Given the description of an element on the screen output the (x, y) to click on. 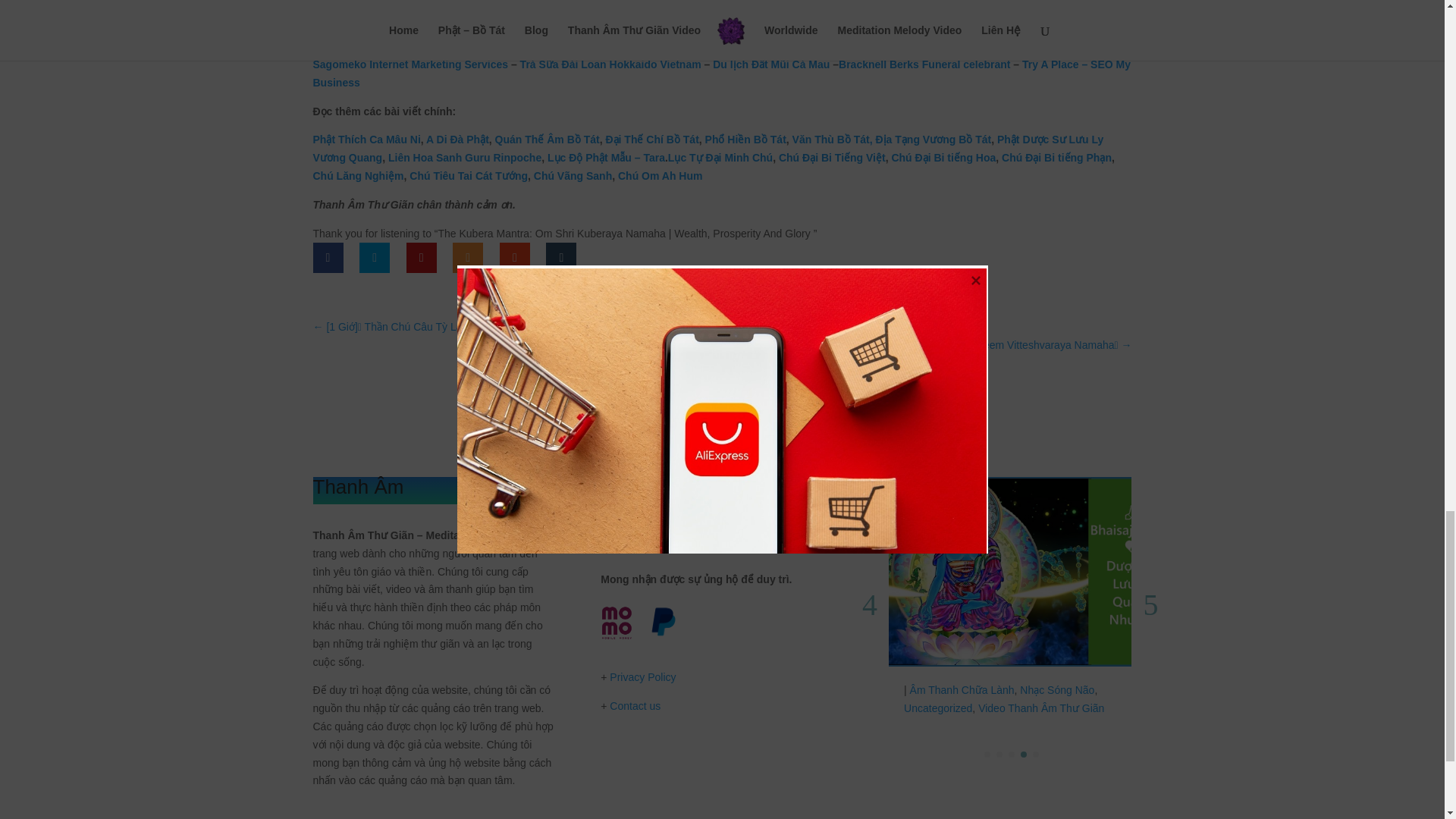
Follow on Facebook (611, 529)
Support for Meditation Melody (663, 635)
Follow on TikTok (673, 529)
Follow on X (764, 529)
Google Site (389, 808)
Blogspot (333, 808)
Follow on Youtube (733, 529)
Privacy Policy (642, 676)
Meditation Meloady (473, 6)
Follow on Youtube (642, 529)
Sagomeko Internet Marketing Services (410, 64)
Follow on Pinterest (703, 529)
Bracknell Berks Funeral celebrant (924, 64)
